Given the description of an element on the screen output the (x, y) to click on. 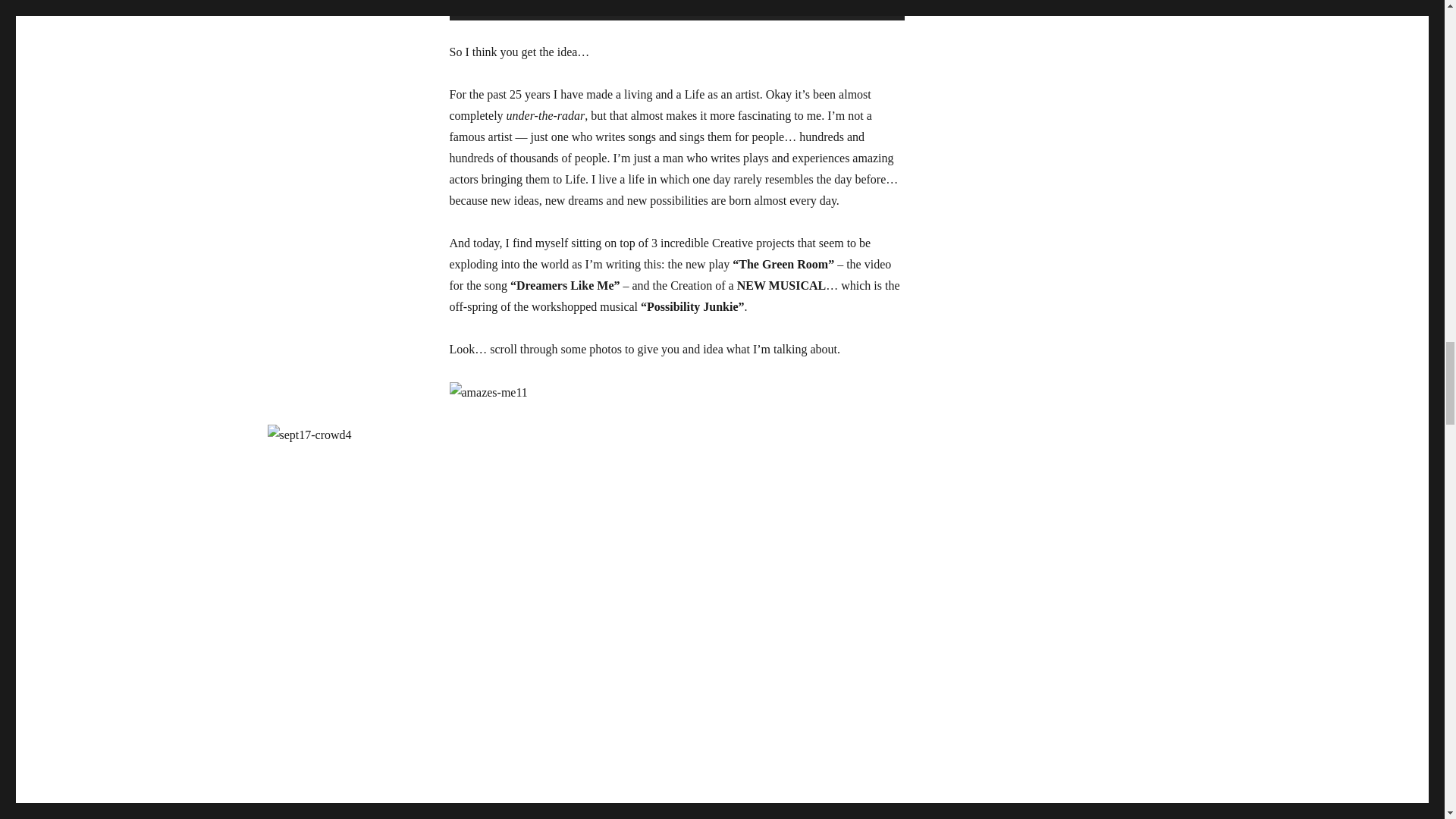
Mute (841, 6)
Play (468, 6)
